Given the description of an element on the screen output the (x, y) to click on. 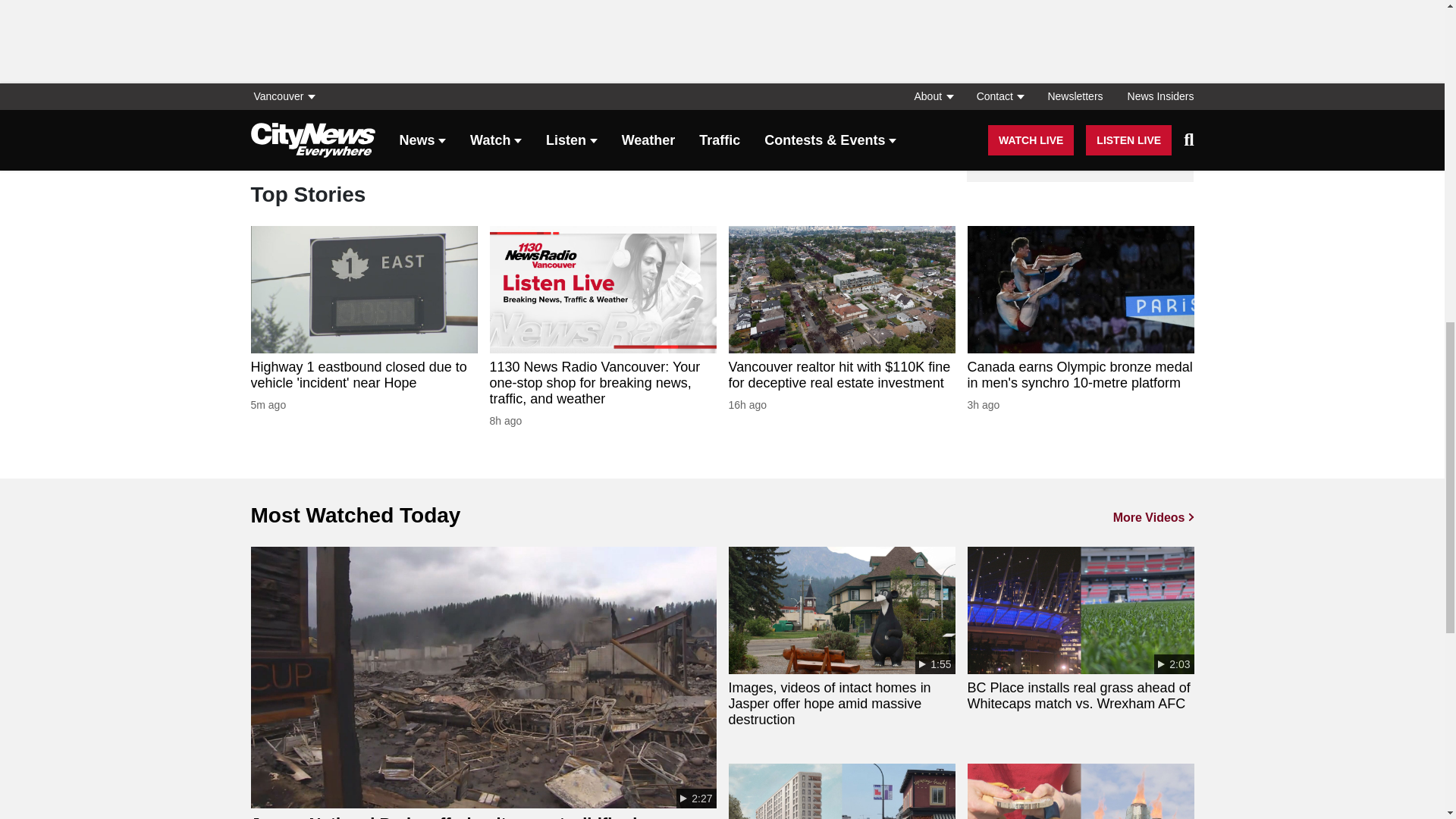
Accessibility Feedback (550, 135)
Submit a Correction (393, 135)
